Given the description of an element on the screen output the (x, y) to click on. 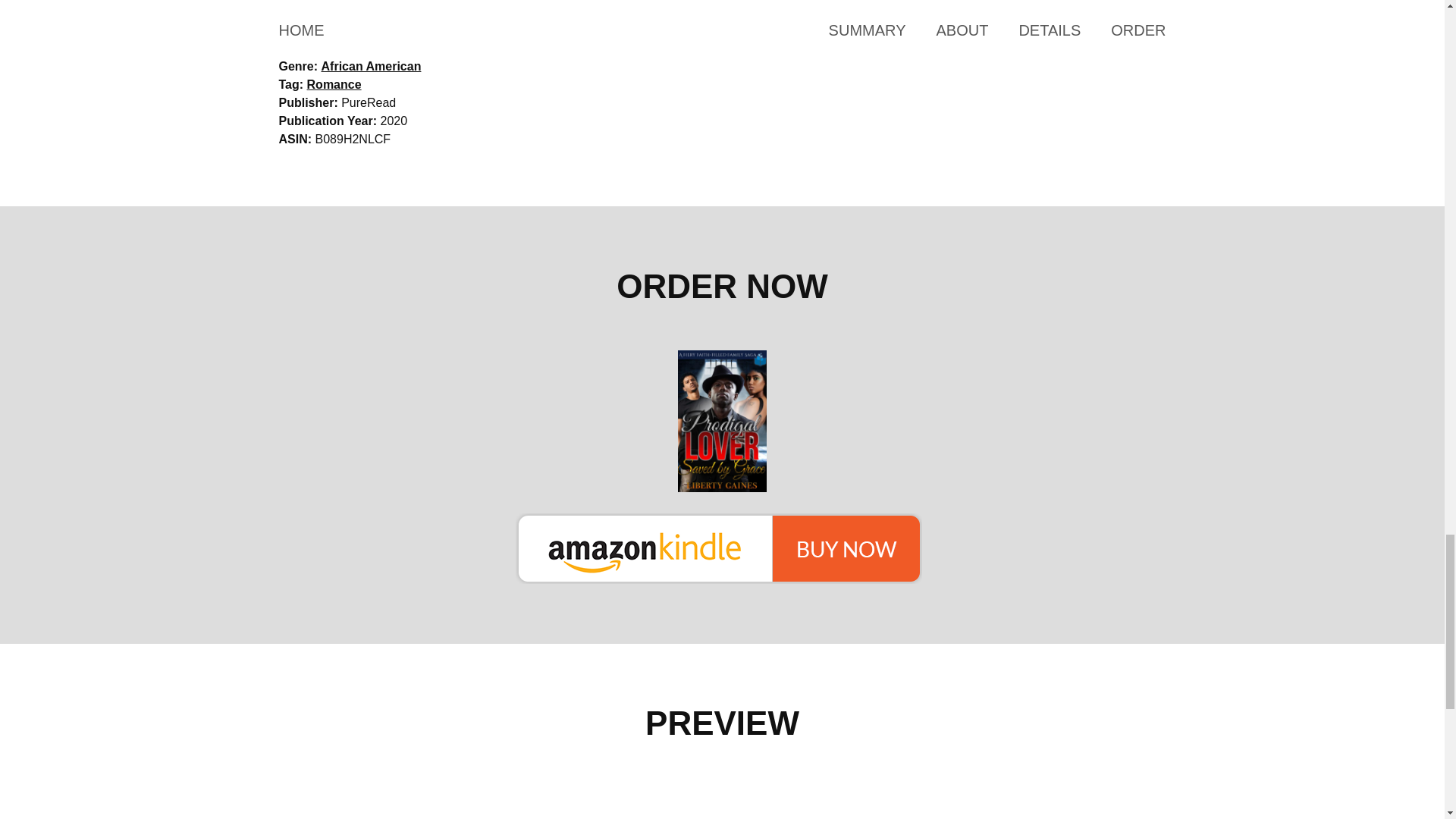
Liberty Gaines (368, 47)
African American (371, 65)
Romance (334, 83)
